Given the description of an element on the screen output the (x, y) to click on. 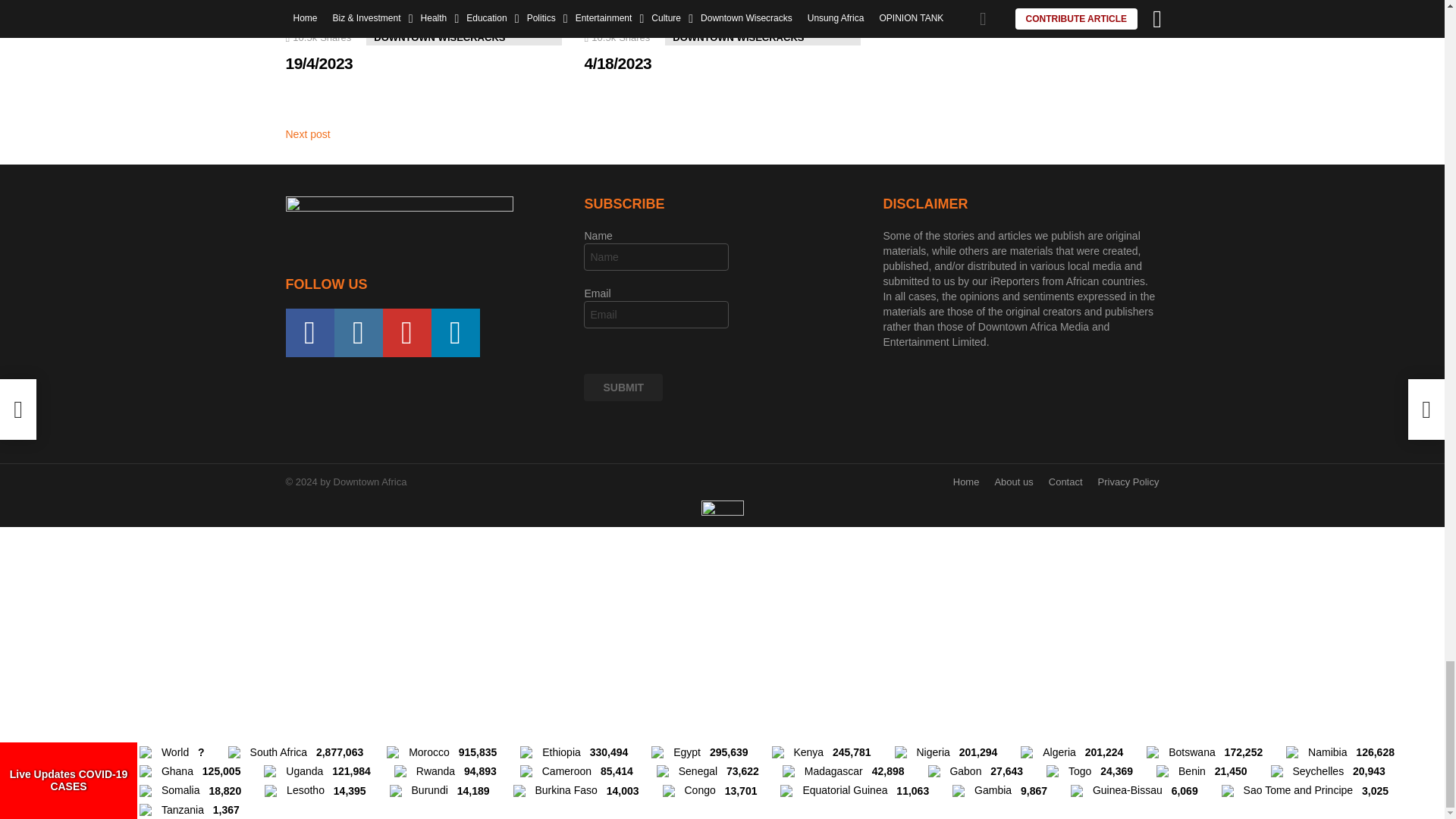
Submit (622, 387)
